Given the description of an element on the screen output the (x, y) to click on. 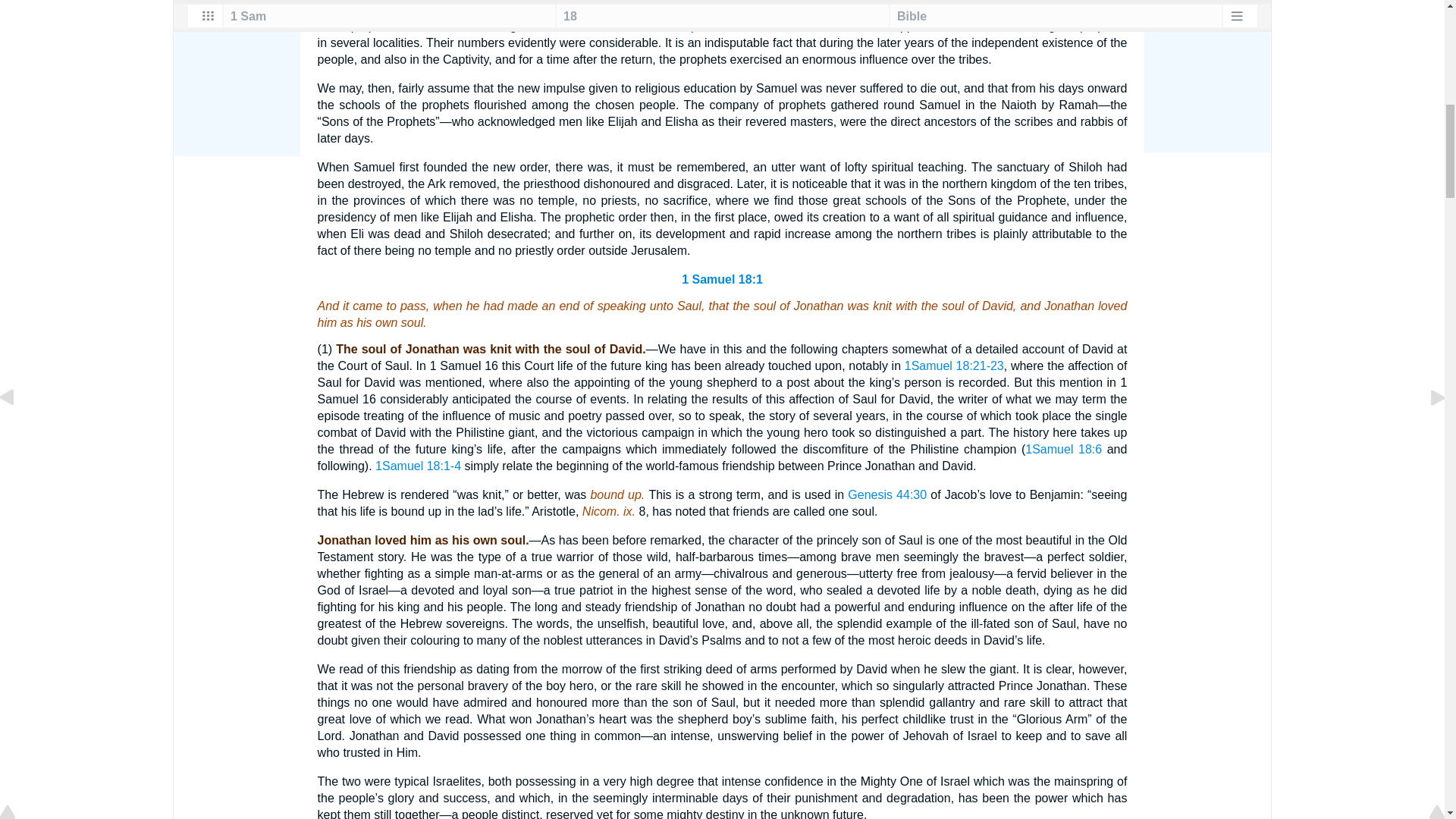
1Samuel 18:21-23 (954, 365)
1Samuel 18:1-4 (418, 465)
1Samuel 18:6 (1063, 449)
Genesis 44:30 (886, 494)
1 Samuel 18:1 (721, 278)
